Given the description of an element on the screen output the (x, y) to click on. 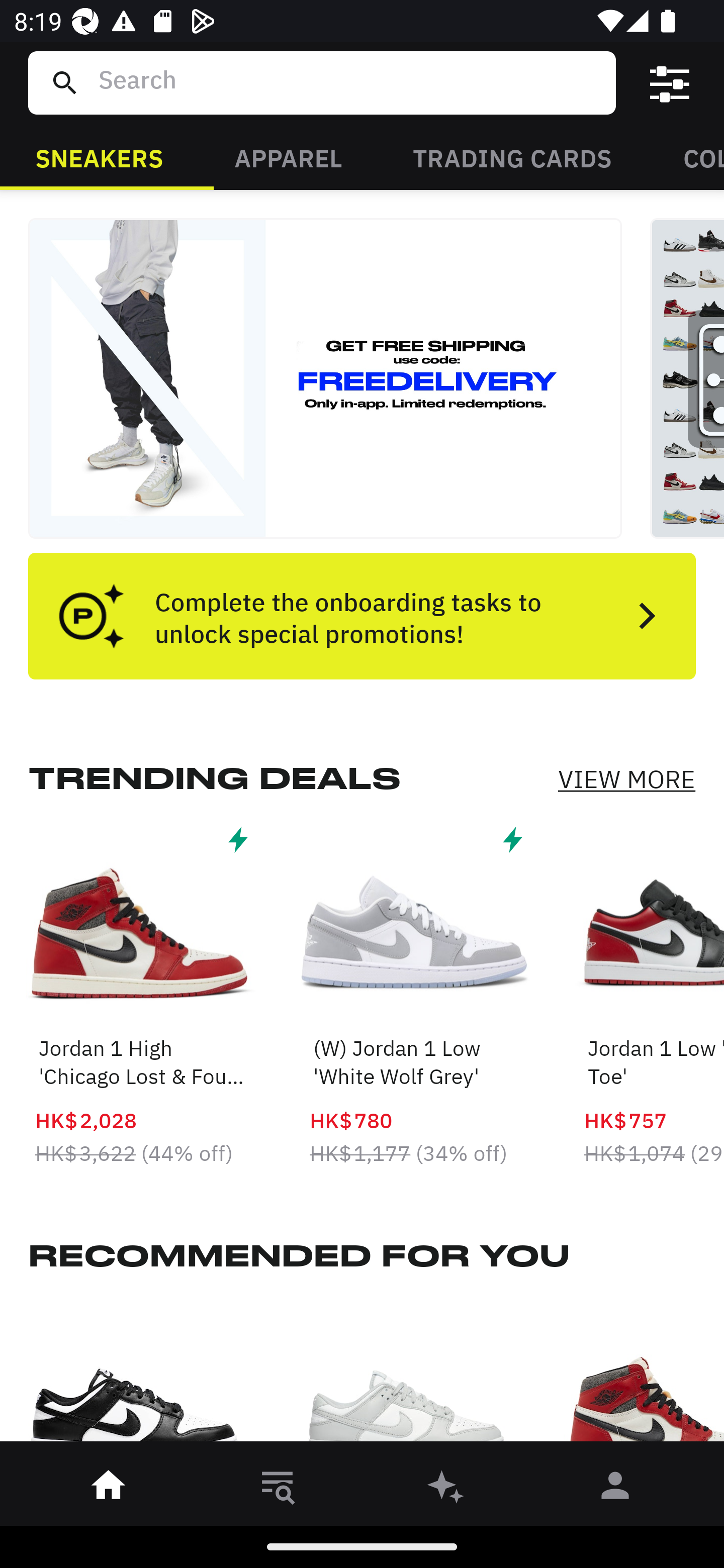
Search (349, 82)
 (669, 82)
SNEAKERS (99, 156)
APPAREL (287, 156)
TRADING CARDS (512, 156)
VIEW MORE (626, 779)
󰋜 (108, 1488)
󱎸 (277, 1488)
󰫢 (446, 1488)
󰀄 (615, 1488)
